Given the description of an element on the screen output the (x, y) to click on. 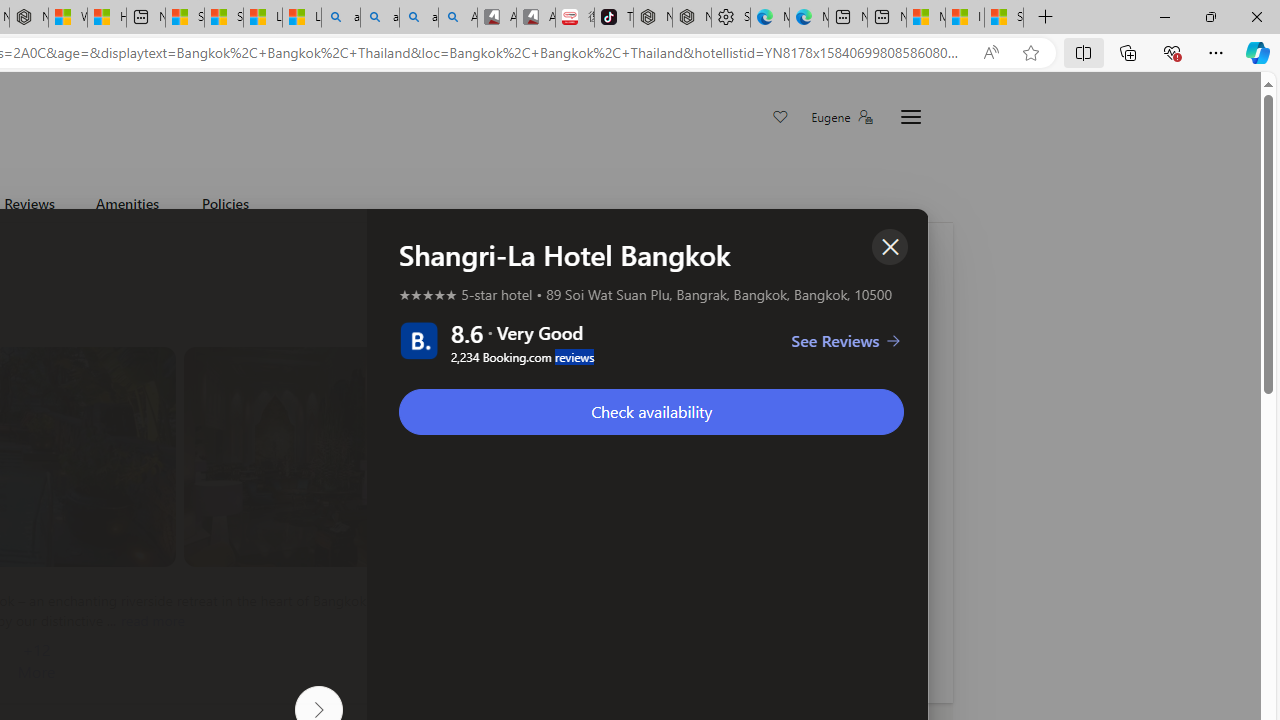
Huge shark washes ashore at New York City beach | Watch (106, 17)
I Gained 20 Pounds of Muscle in 30 Days! | Watch (964, 17)
Settings (730, 17)
TikTok (614, 17)
